Given the description of an element on the screen output the (x, y) to click on. 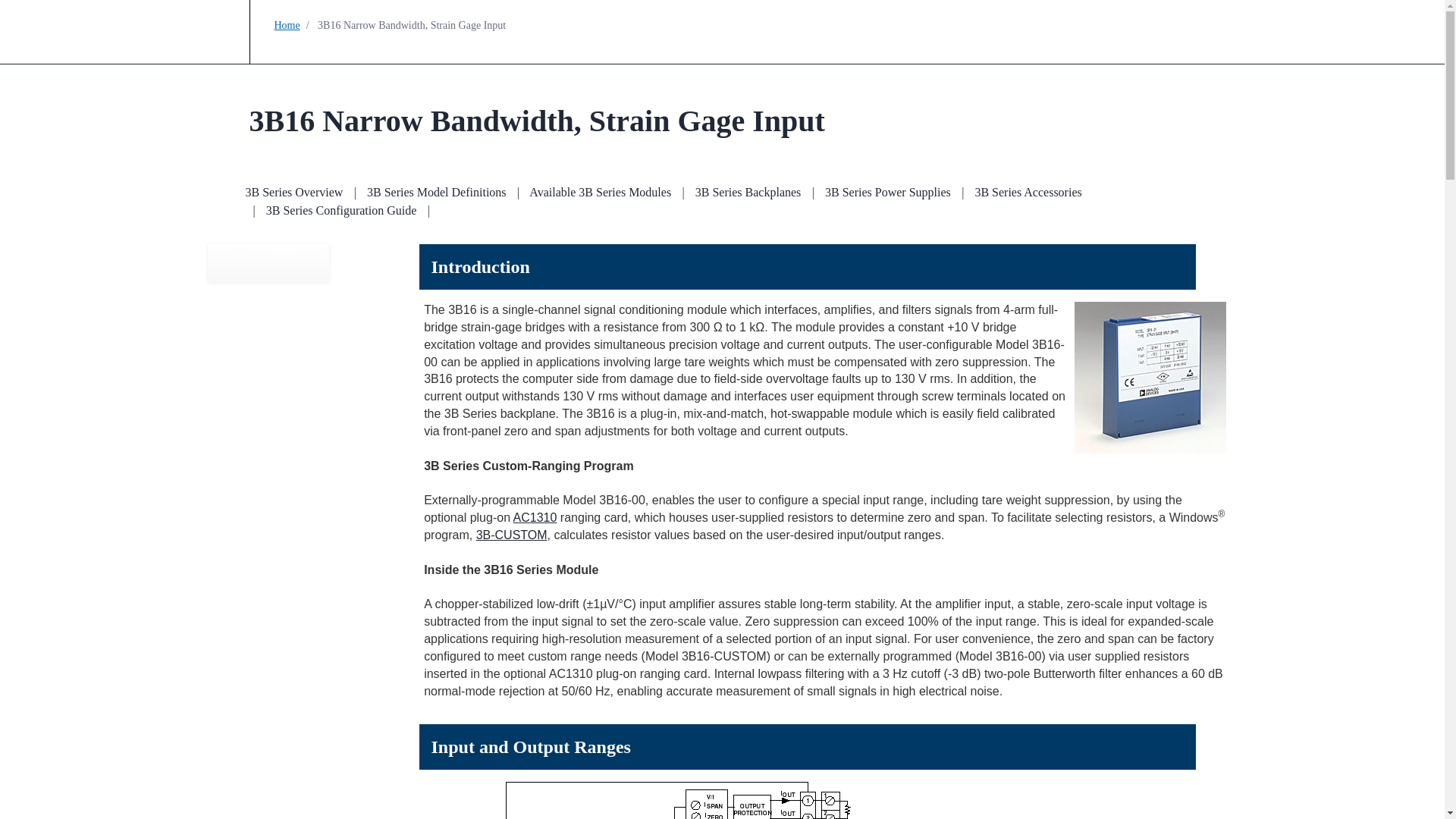
3B Series Overview (294, 192)
3B Series Model Definitions (436, 192)
AC1310 (535, 517)
3B Series Power Supplies (887, 192)
Available 3B Series Modules (600, 192)
3B-CUSTOM (511, 534)
Home (287, 25)
3B Series Accessories (1027, 192)
3B Series Configuration Guide (341, 210)
3B Series Backplanes (748, 192)
